Given the description of an element on the screen output the (x, y) to click on. 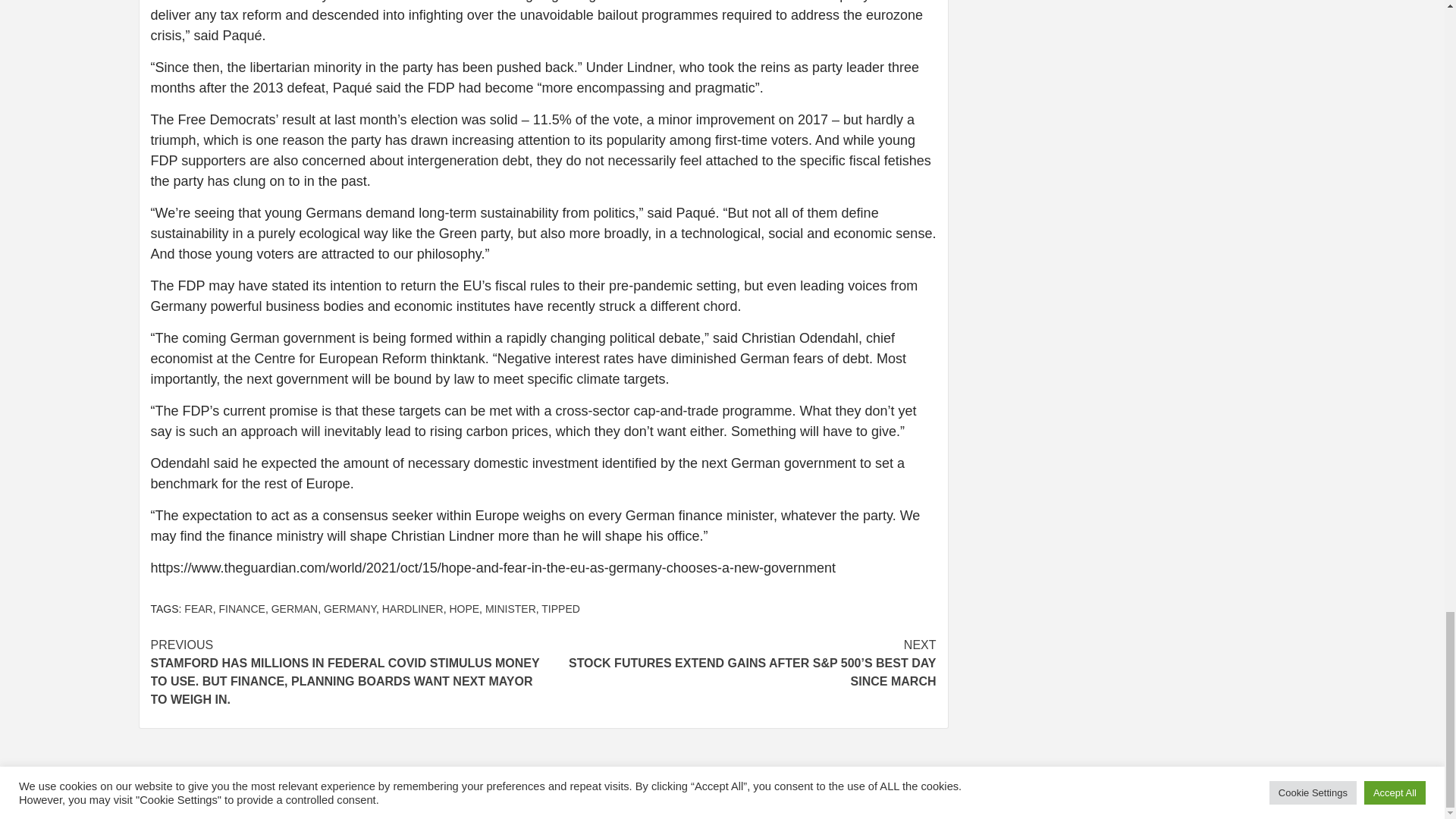
TIPPED (560, 608)
GERMANY (349, 608)
HOPE (463, 608)
HARDLINER (412, 608)
Magazine 7 (812, 793)
GERMAN (293, 608)
FEAR (198, 608)
FINANCE (241, 608)
MINISTER (509, 608)
